Given the description of an element on the screen output the (x, y) to click on. 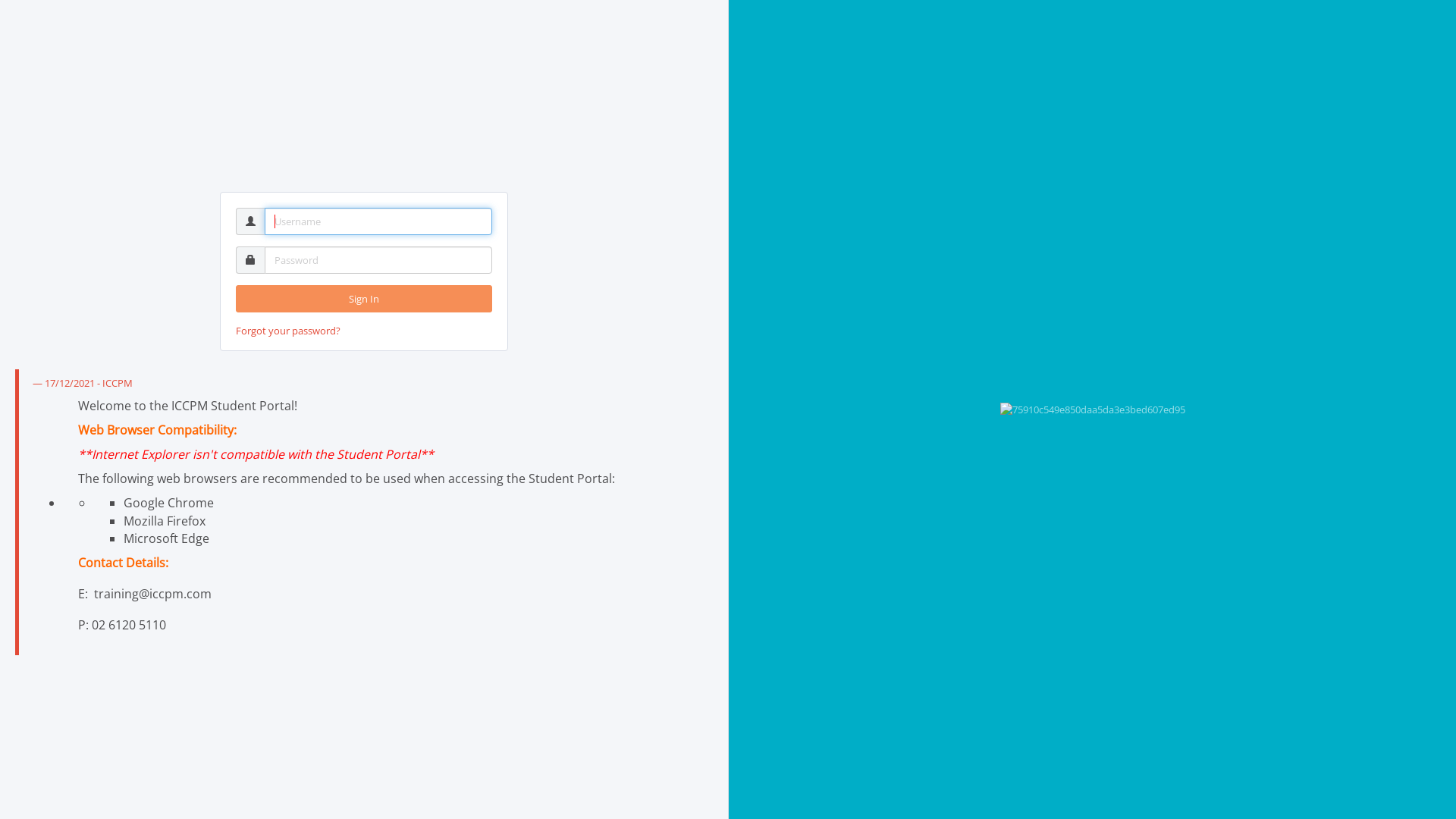
Forgot your password? Element type: text (287, 330)
Sign In Element type: text (363, 299)
